Given the description of an element on the screen output the (x, y) to click on. 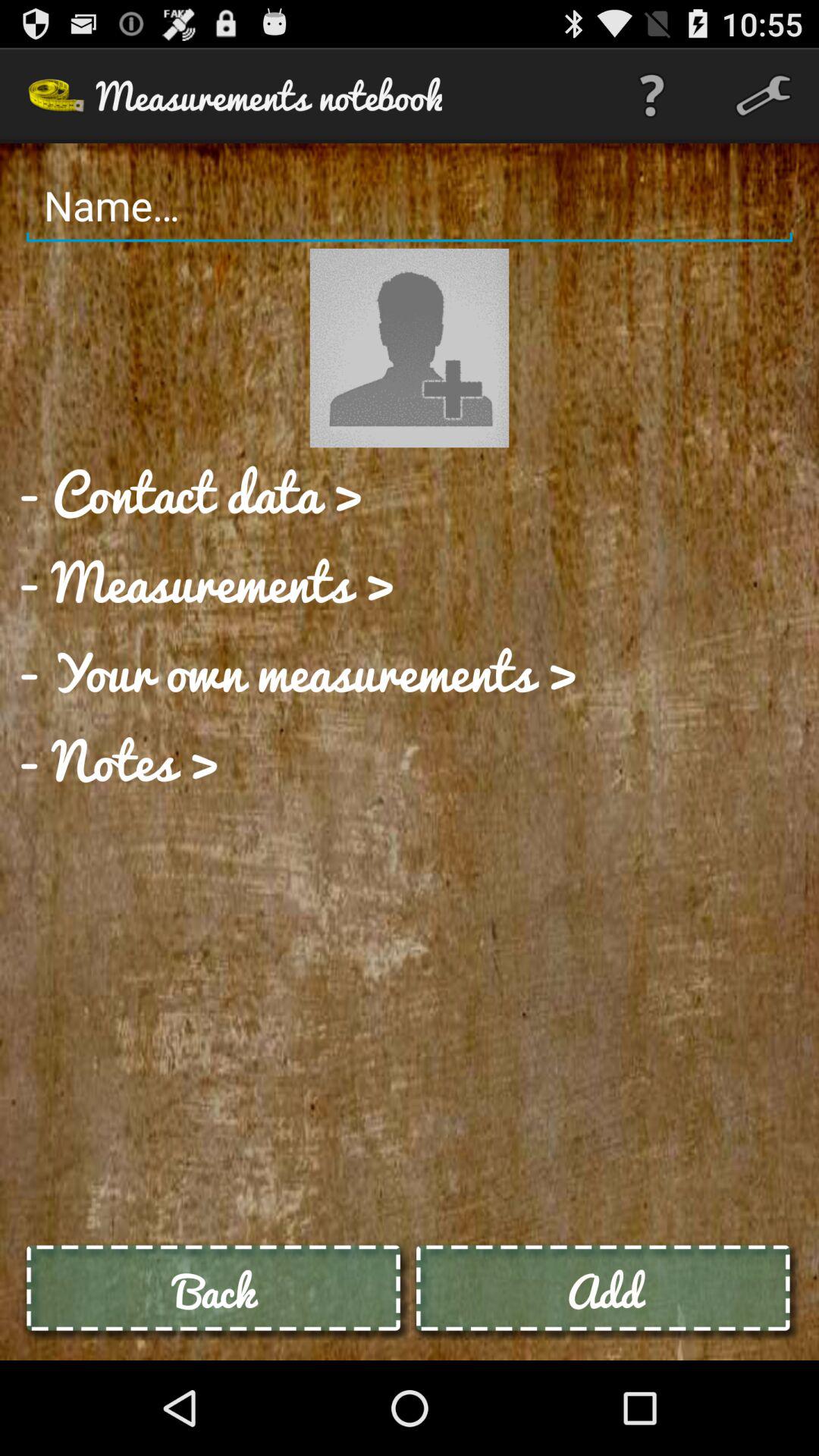
add profile picture (409, 347)
